Given the description of an element on the screen output the (x, y) to click on. 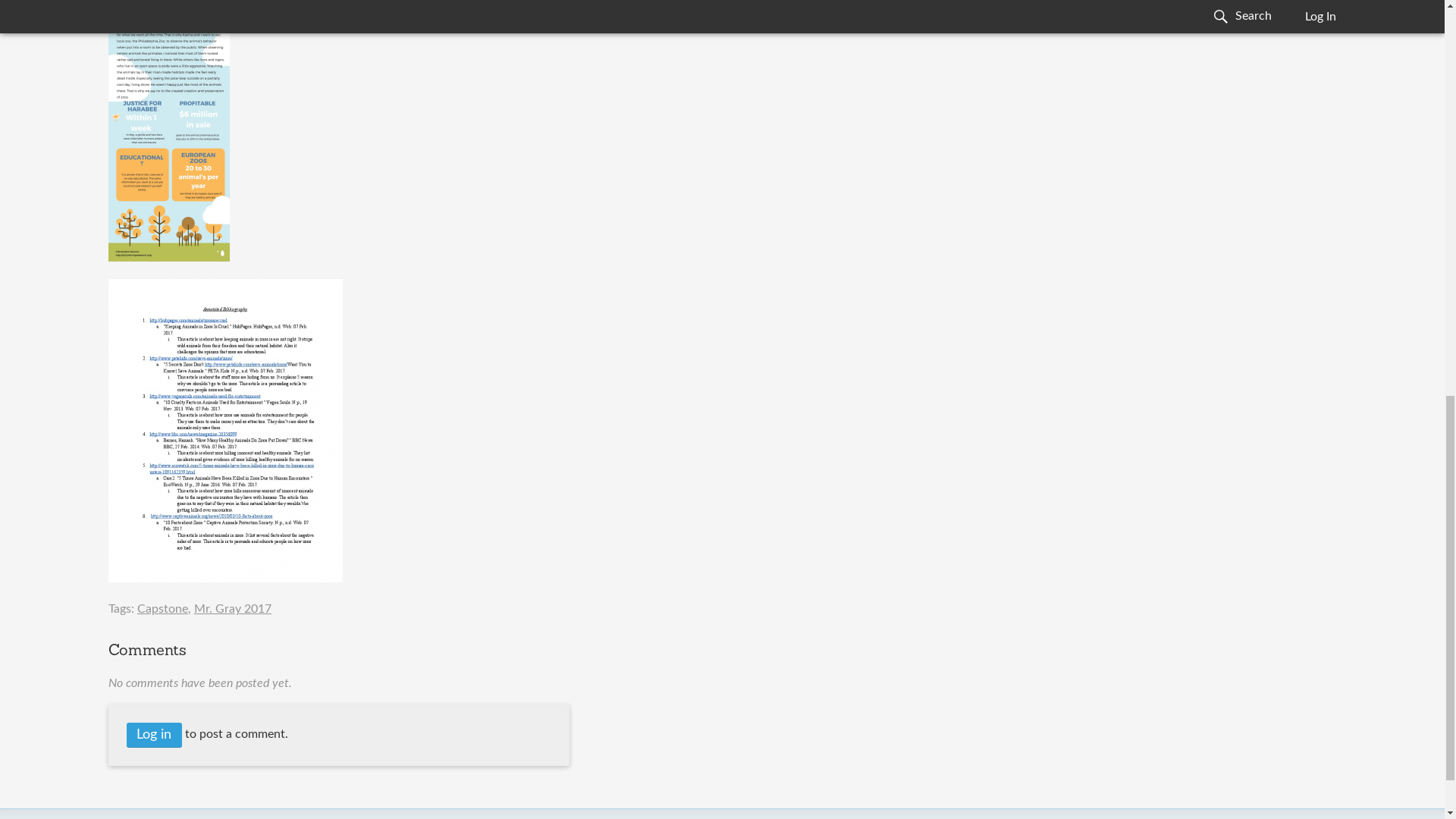
Mr. Gray 2017 (231, 608)
CapstoneAnnotedBibliography (224, 578)
Capstone (161, 608)
Log in (154, 734)
Trails (168, 257)
